Given the description of an element on the screen output the (x, y) to click on. 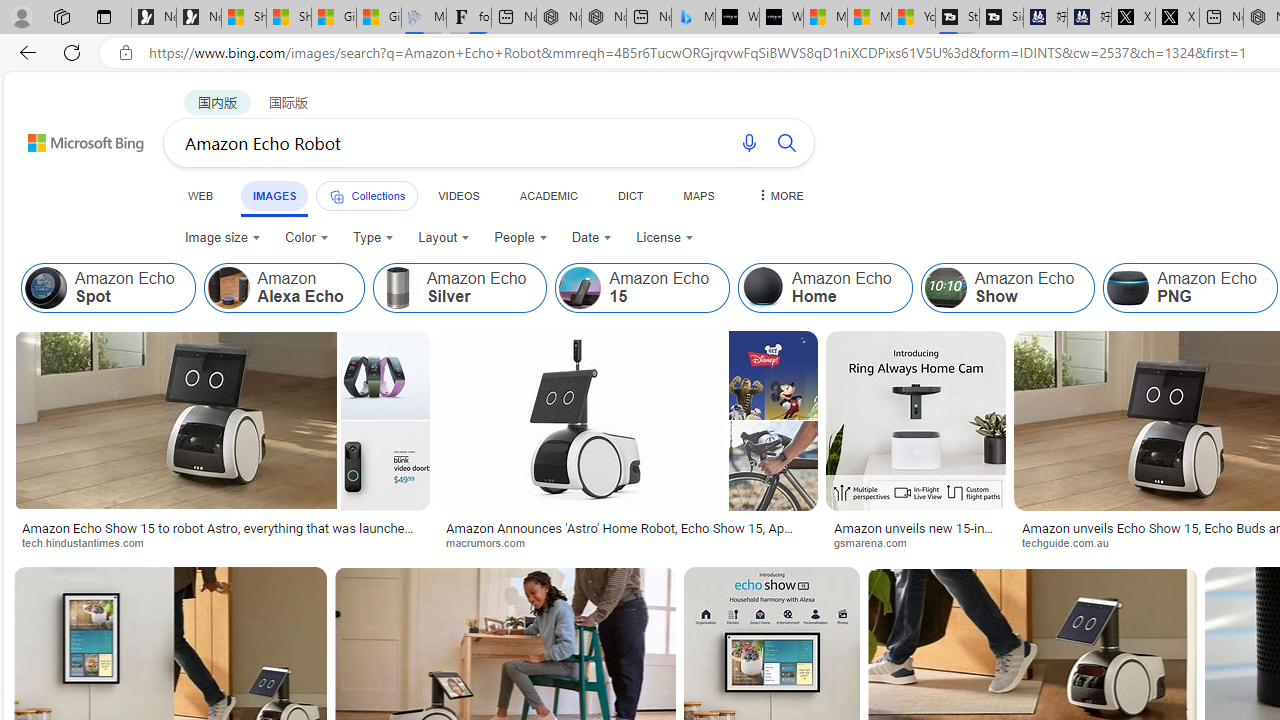
Date (591, 237)
Color (305, 237)
Class: b_pri_nav_svg (336, 196)
Back to Bing search (73, 138)
DICT (630, 195)
WEB (201, 195)
Amazon Echo Spot (45, 287)
gsmarena.com (877, 541)
IMAGES (274, 196)
Amazon Echo Home (763, 287)
